Given the description of an element on the screen output the (x, y) to click on. 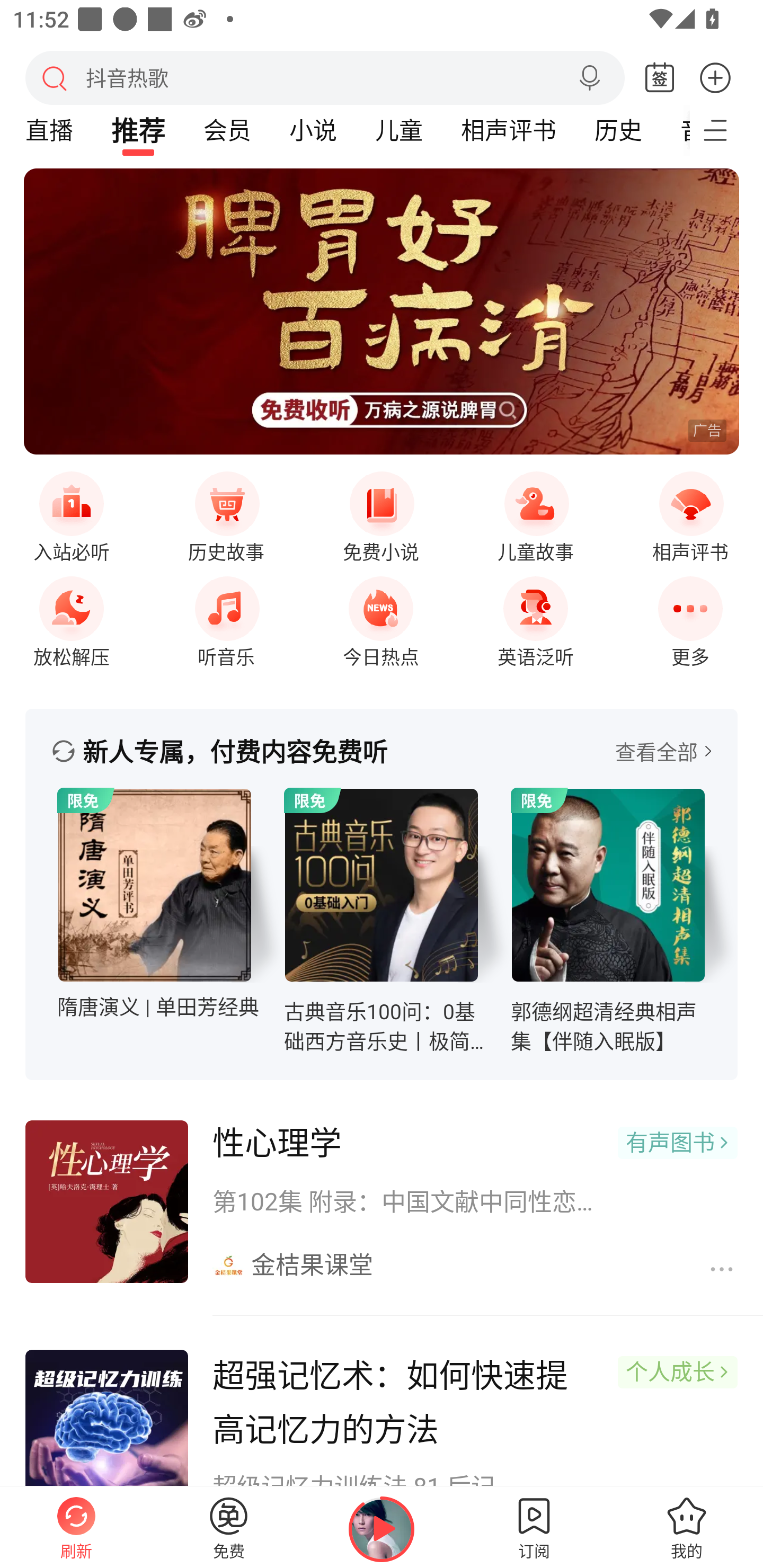
搜索 抖音热歌 语音搜索 (324, 77)
更多 (714, 77)
签到 (659, 78)
语音搜索 (589, 78)
直播 (49, 130)
推荐 (138, 130)
会员 (227, 130)
小说 (313, 130)
儿童 (398, 130)
相声评书 (508, 130)
历史 (618, 130)
更多频道 (726, 130)
养好脾胃百病消，限时免费播放 (381, 310)
入站必听 (71, 514)
历史故事 (226, 514)
免费小说 (380, 514)
儿童故事 (535, 514)
相声评书 (689, 514)
放松解压 (71, 616)
听音乐 (226, 616)
今日热点 (380, 616)
英语泛听 (535, 616)
更多 (689, 616)
查看全部 (662, 750)
专辑图标 (154, 885)
专辑图标 (381, 885)
专辑图标 (607, 885)
性心理学 有声图书    第102集 附录：中国文献中同性恋举例5 因缘的解释（完） 金桔果课堂 (381, 1202)
超强记忆术：如何快速提高记忆力的方法 个人成长    超级记忆力训练法 81 后记 (381, 1404)
刷新 (76, 1526)
免费 (228, 1526)
订阅 (533, 1526)
我的 (686, 1526)
继续播放Alpha-橘子海OrangeOcean (381, 1529)
